Given the description of an element on the screen output the (x, y) to click on. 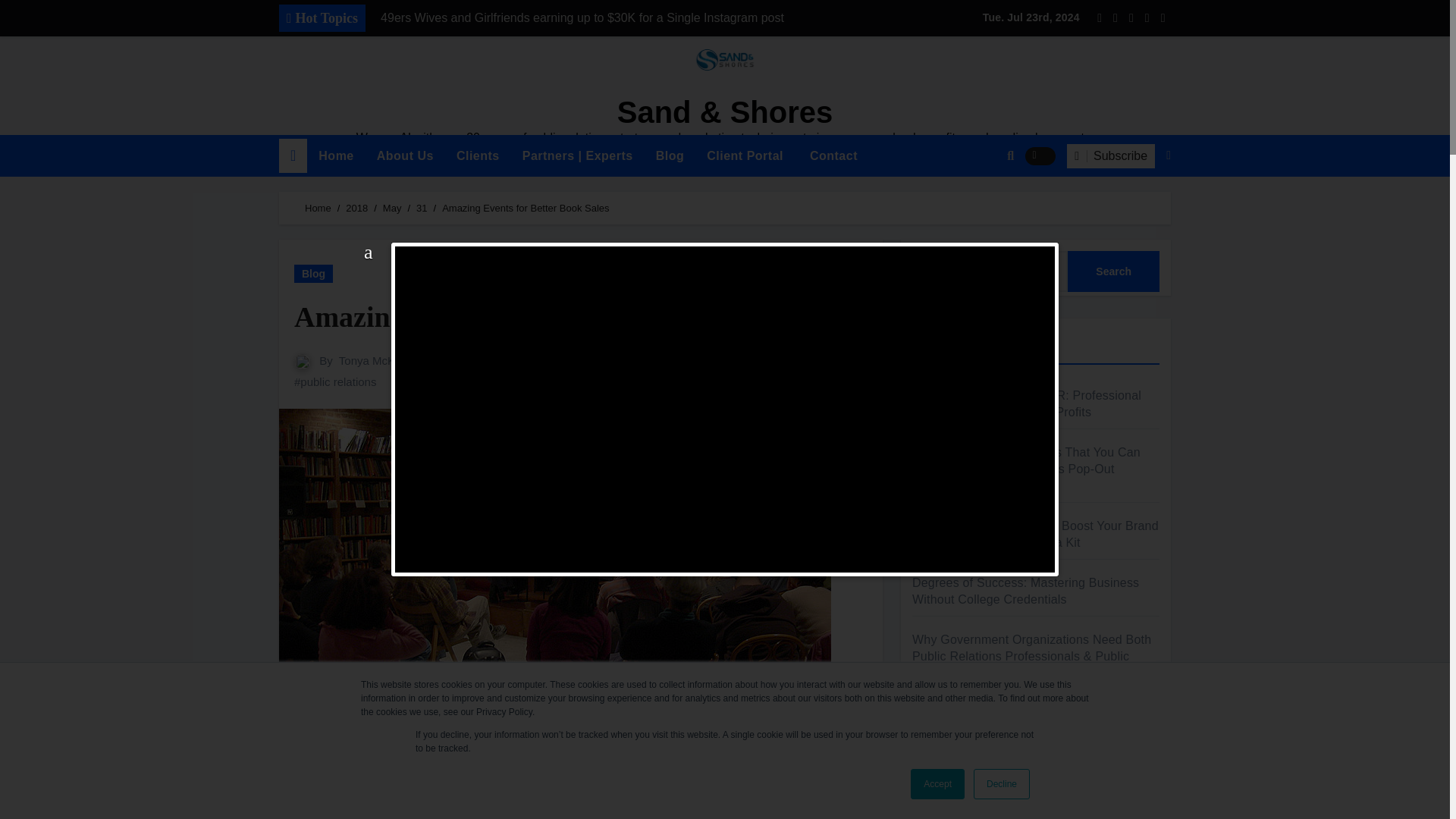
Search (1112, 270)
About Us (405, 155)
Accept (937, 784)
Blog (670, 155)
Clients (478, 155)
About Us (405, 155)
Clients (478, 155)
Home (336, 155)
Contact (831, 155)
Search (1112, 270)
Decline (1001, 784)
Home (336, 155)
Client Portal (744, 155)
